Given the description of an element on the screen output the (x, y) to click on. 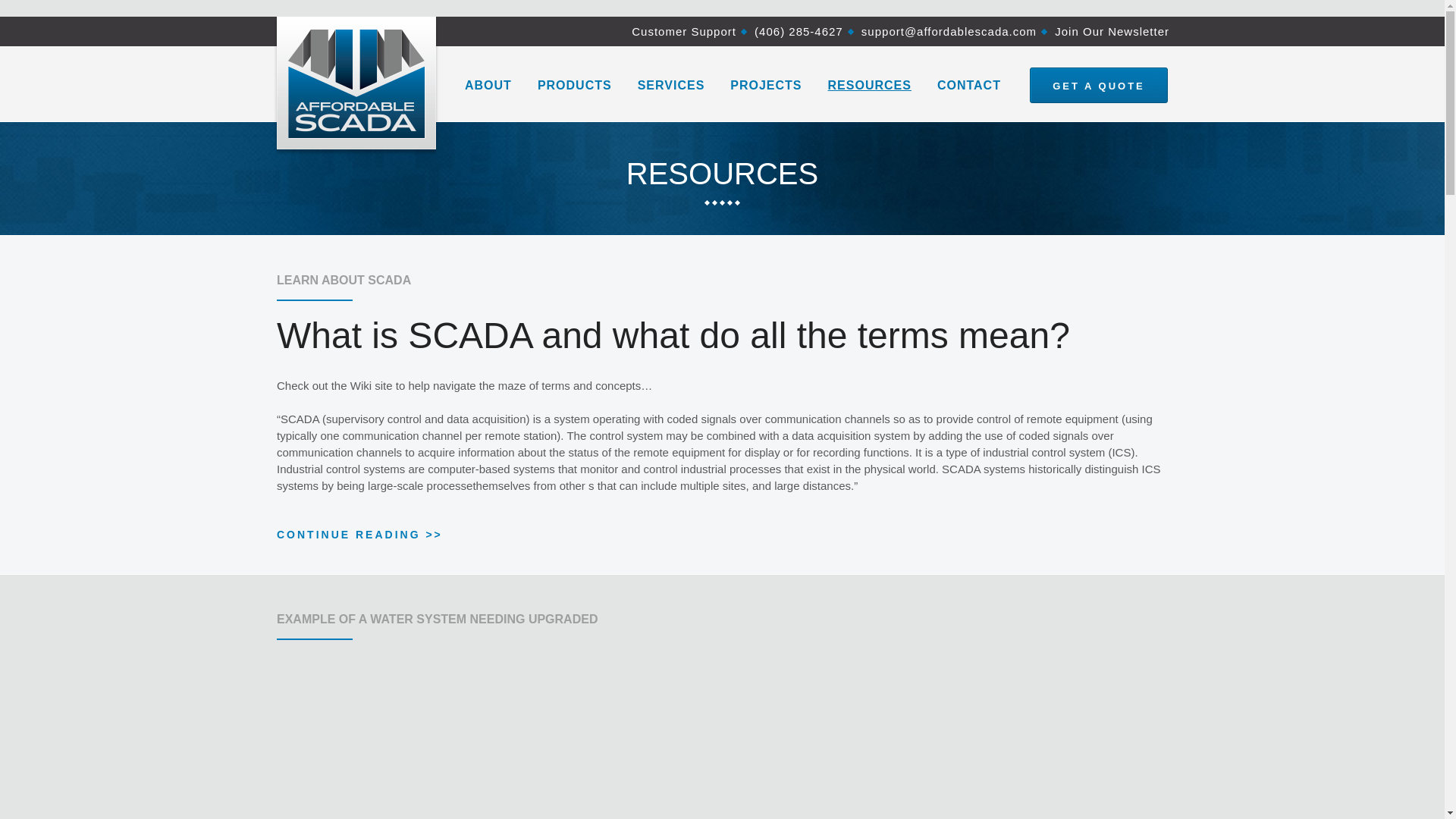
PROJECTS (766, 84)
PRODUCTS (574, 84)
CONTACT (969, 84)
ABOUT (488, 84)
GET A QUOTE (1098, 85)
RESOURCES (869, 84)
Join Our Newsletter (1111, 31)
SERVICES (670, 84)
